Given the description of an element on the screen output the (x, y) to click on. 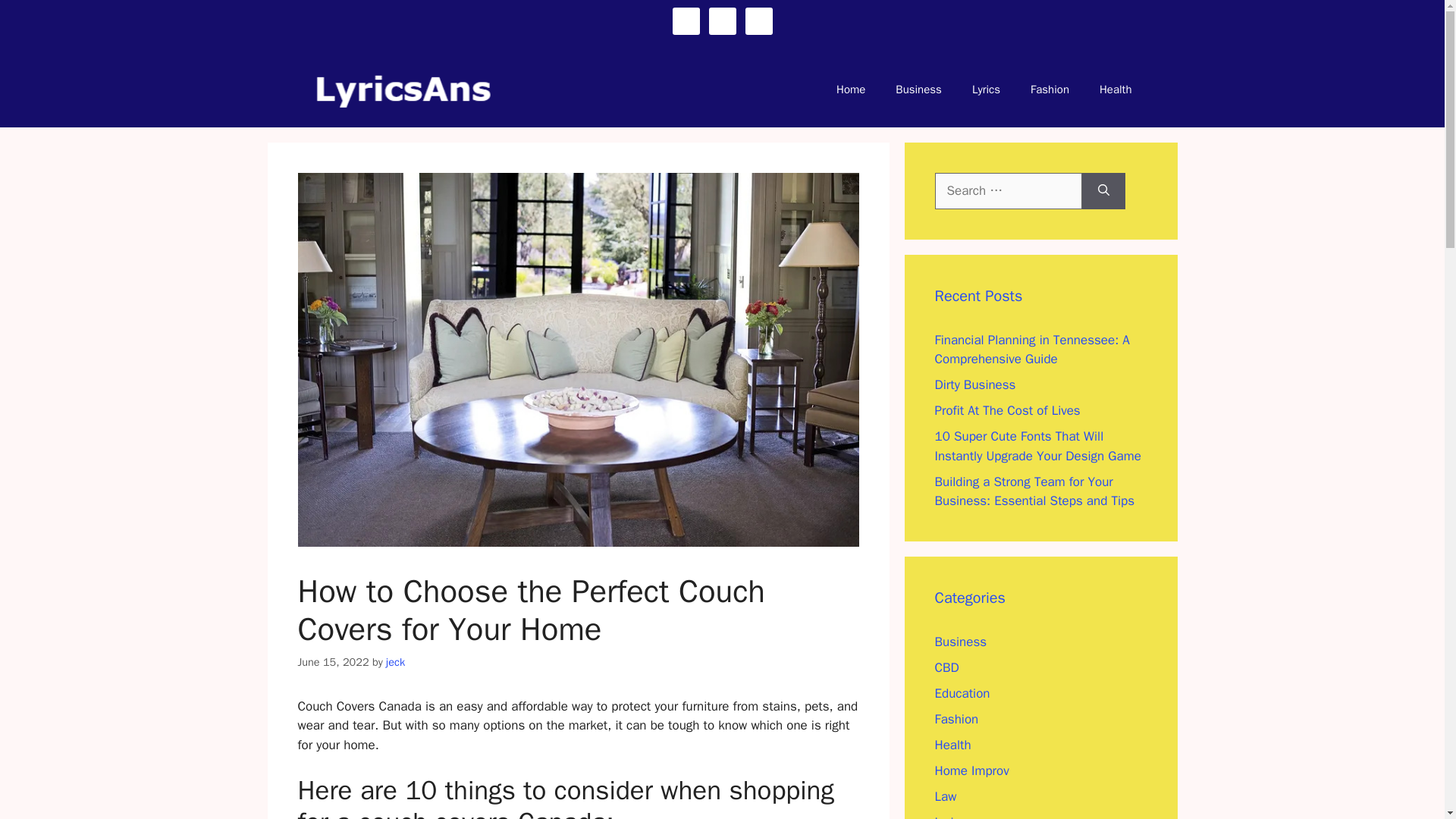
Search for: (1007, 190)
Home (850, 89)
Law (945, 796)
CBD (946, 667)
Lyrics (950, 816)
Health (1115, 89)
jeck (394, 662)
Business (960, 641)
Education (962, 693)
